Given the description of an element on the screen output the (x, y) to click on. 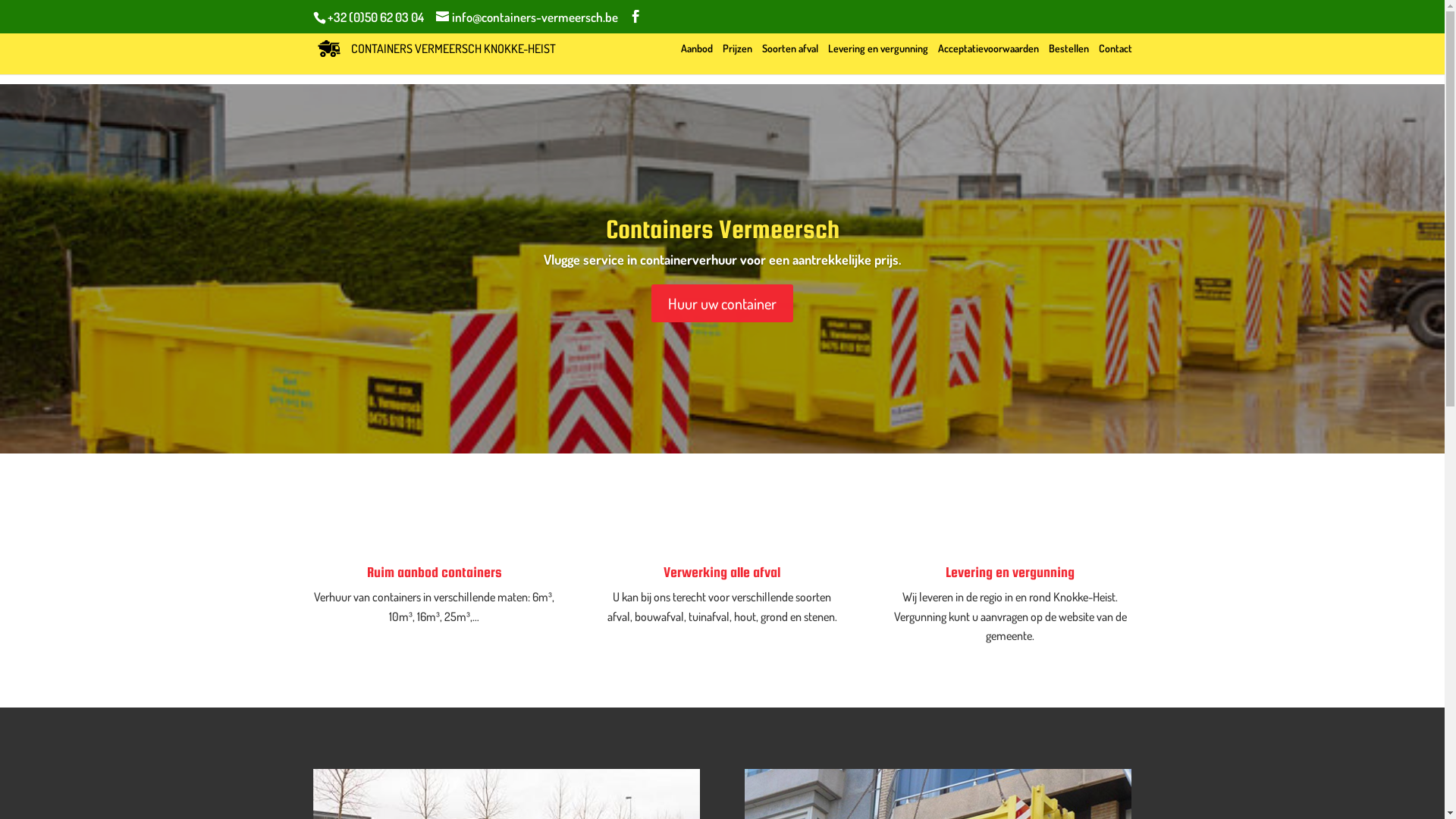
Levering en vergunning Element type: text (878, 58)
Prijzen Element type: text (736, 58)
Verwerking alle afval Element type: text (721, 572)
Bestellen Element type: text (1068, 58)
Containers Vermeersch Element type: text (721, 228)
Contact Element type: text (1114, 58)
CONTAINERS VERMEERSCH KNOKKE-HEIST Element type: text (435, 46)
Ruim aanbod containers Element type: text (434, 572)
Levering en vergunning Element type: text (1009, 572)
info@containers-vermeersch.be Element type: text (526, 17)
Aanbod Element type: text (696, 58)
Huur uw container Element type: text (722, 303)
Acceptatievoorwaarden Element type: text (987, 58)
Soorten afval Element type: text (789, 58)
